Given the description of an element on the screen output the (x, y) to click on. 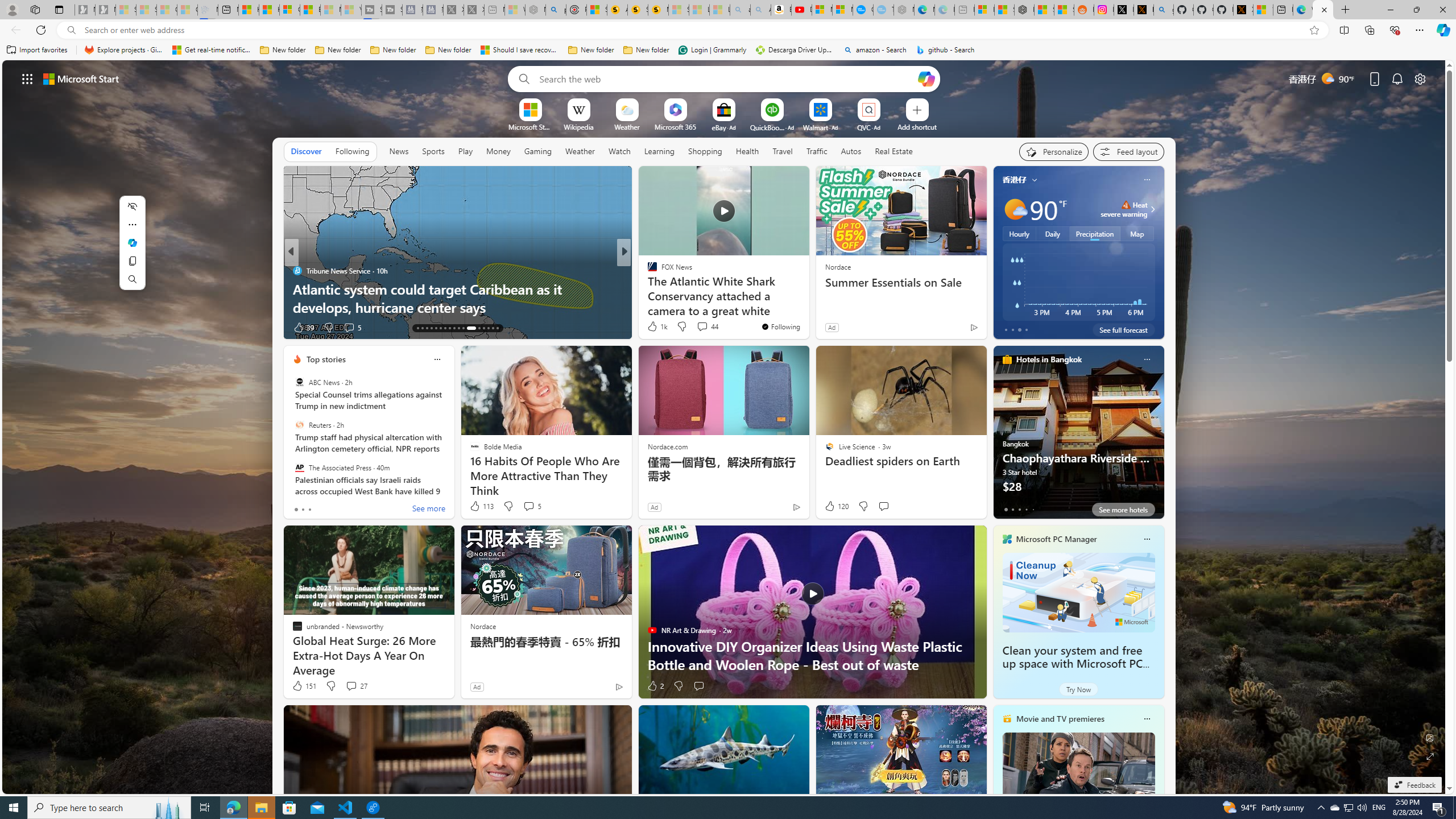
Page settings (1420, 78)
The most popular Google 'how to' searches - Sleeping (882, 9)
Click to see more information (1150, 208)
Newsletter Sign Up - Sleeping (105, 9)
Daily (1052, 233)
X Privacy Policy (1242, 9)
AutomationID: tab-19 (444, 328)
